Given the description of an element on the screen output the (x, y) to click on. 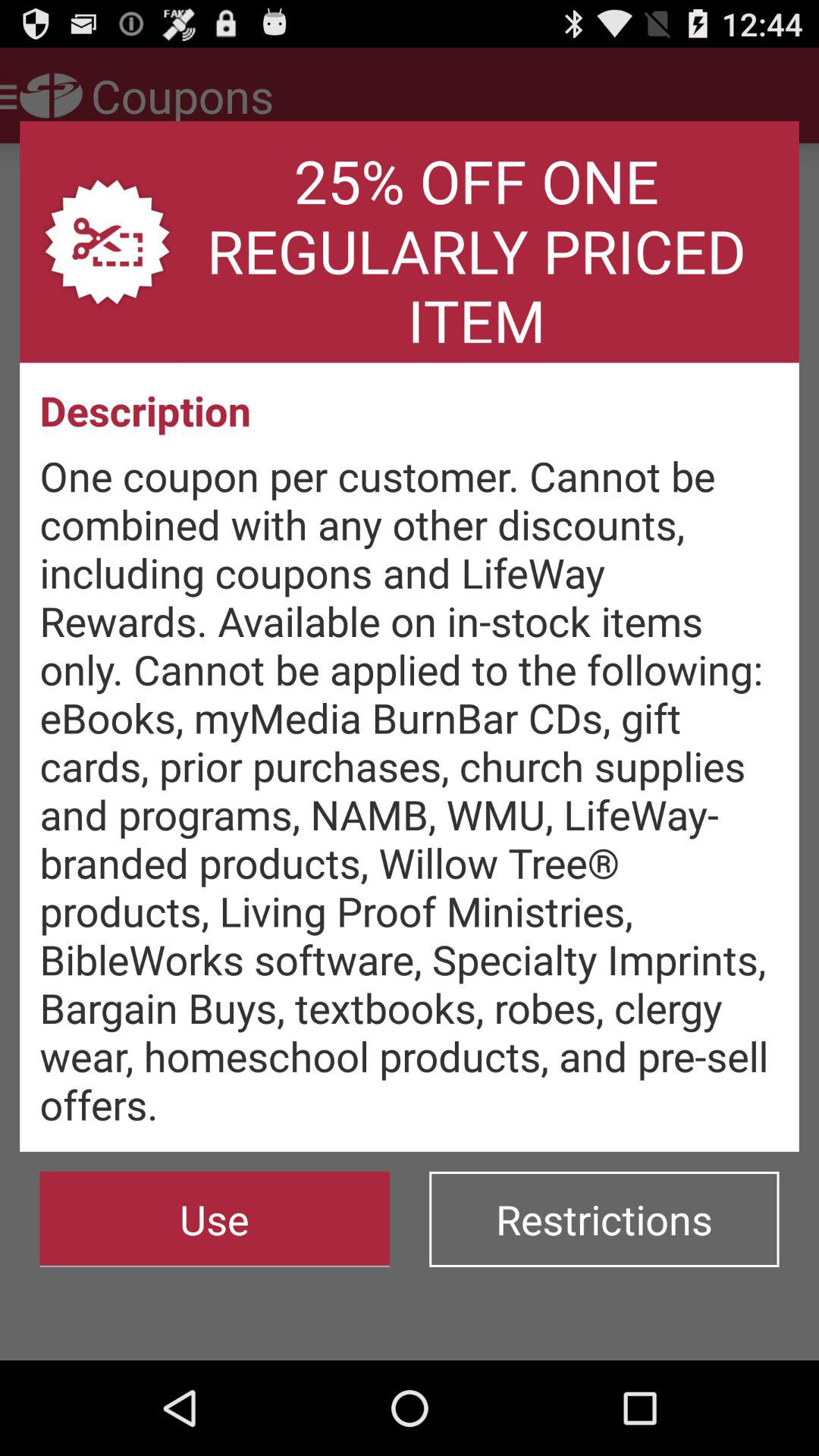
press item below one coupon per app (214, 1219)
